Given the description of an element on the screen output the (x, y) to click on. 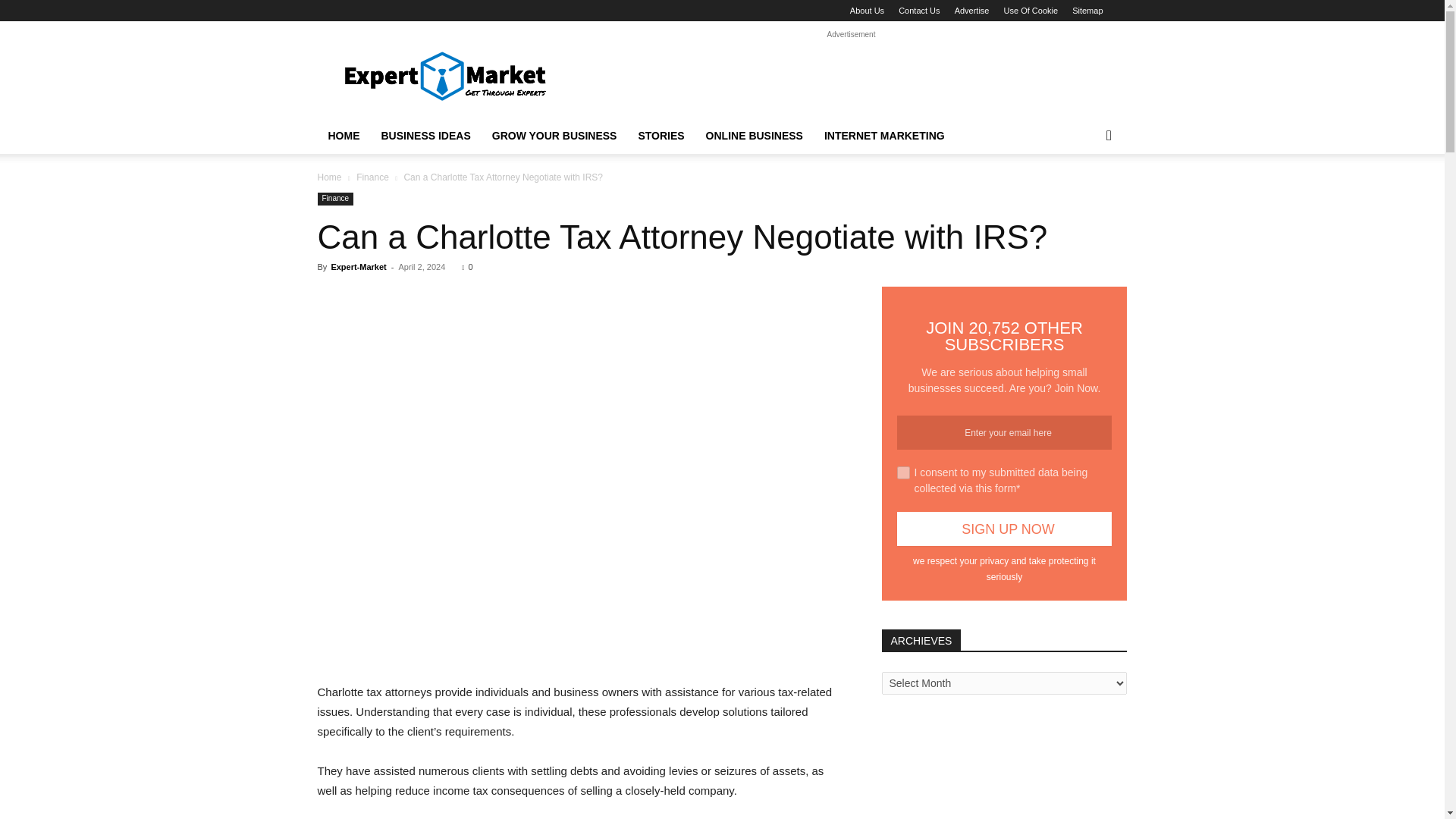
Advertise (972, 10)
Use Of Cookie (1031, 10)
GROW YOUR BUSINESS (554, 135)
BUSINESS IDEAS (424, 135)
Sign Up Now (1004, 528)
HOME (343, 135)
About Us (866, 10)
on (902, 472)
Sitemap (1086, 10)
Contact Us (918, 10)
